Given the description of an element on the screen output the (x, y) to click on. 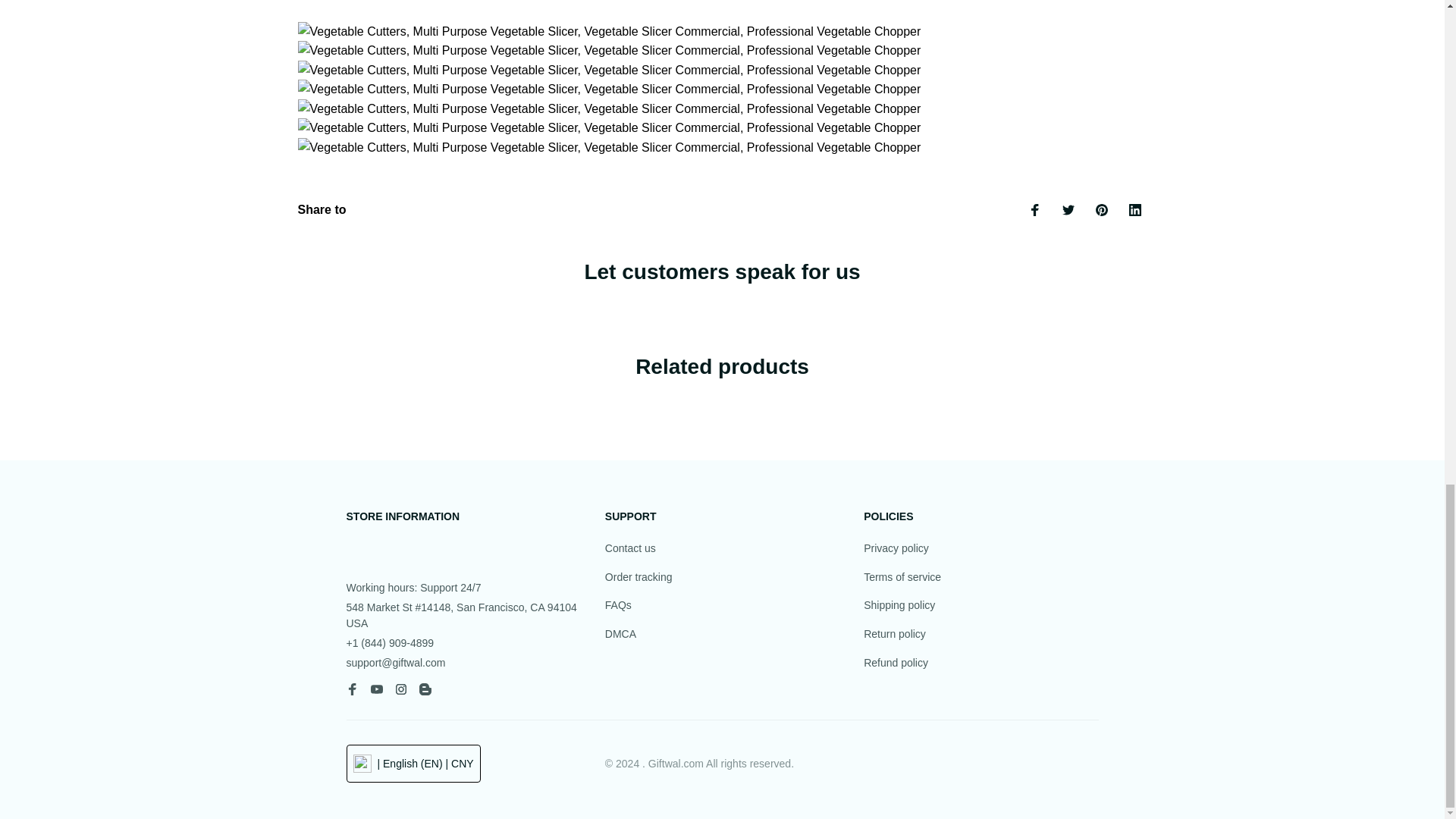
DMCA (620, 634)
Privacy policy (895, 548)
Refund policy (895, 663)
FAQs (618, 605)
Order tracking (638, 577)
Contact us (630, 548)
Terms of service (901, 577)
Return policy (894, 634)
Shipping policy (898, 605)
